Given the description of an element on the screen output the (x, y) to click on. 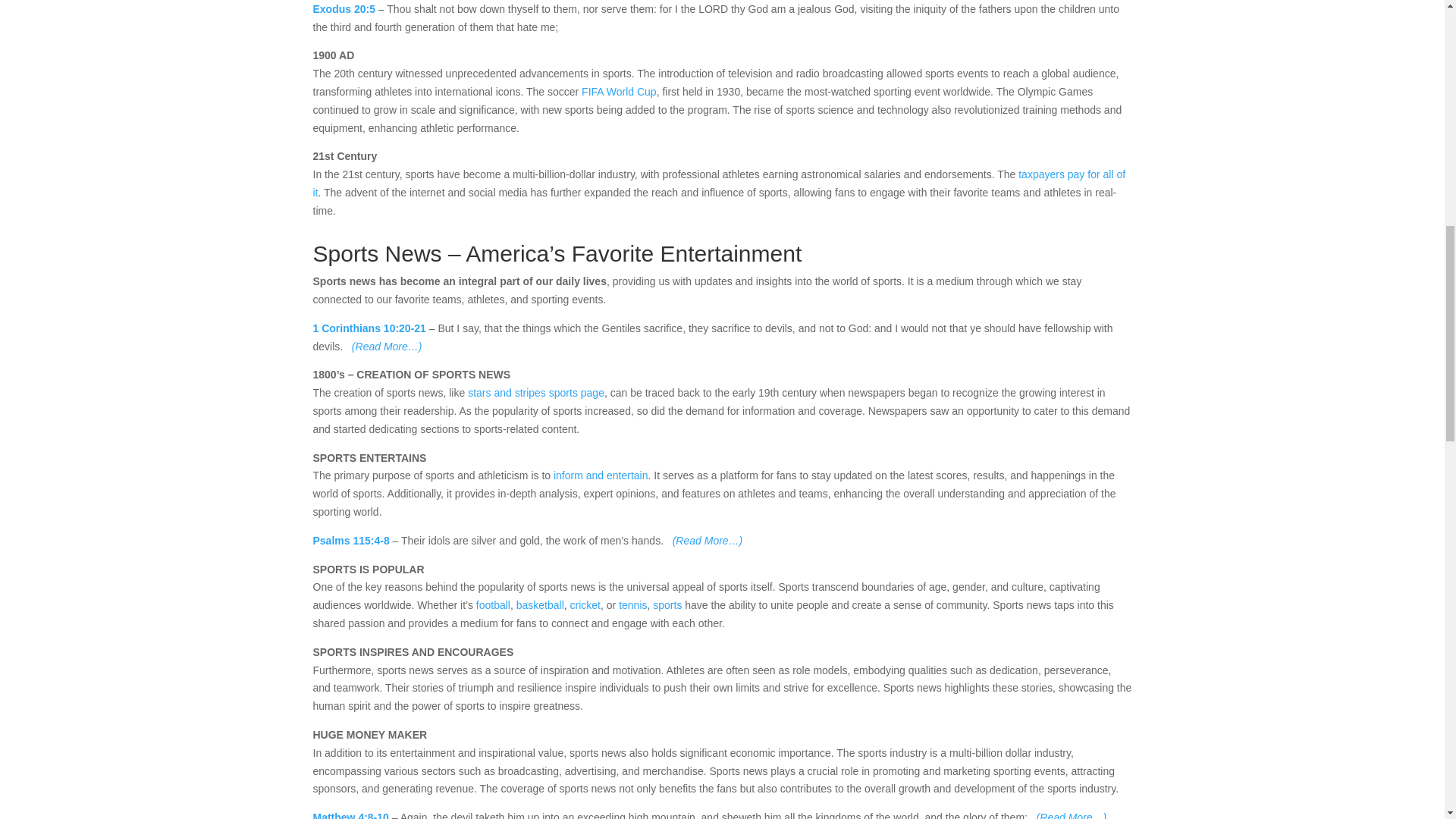
Psalms 115:4-115:8 (350, 540)
1 Corinthians 10:20-21 (369, 328)
Psalms 115:4-8 (350, 540)
Matthew 4:8-4:10 (350, 815)
Exodus 20:5 (343, 9)
tennis (632, 604)
FIFA World Cup (618, 91)
inform and entertain (600, 475)
1 Corinthians 10:20-10:21 (369, 328)
basketball (540, 604)
